Given the description of an element on the screen output the (x, y) to click on. 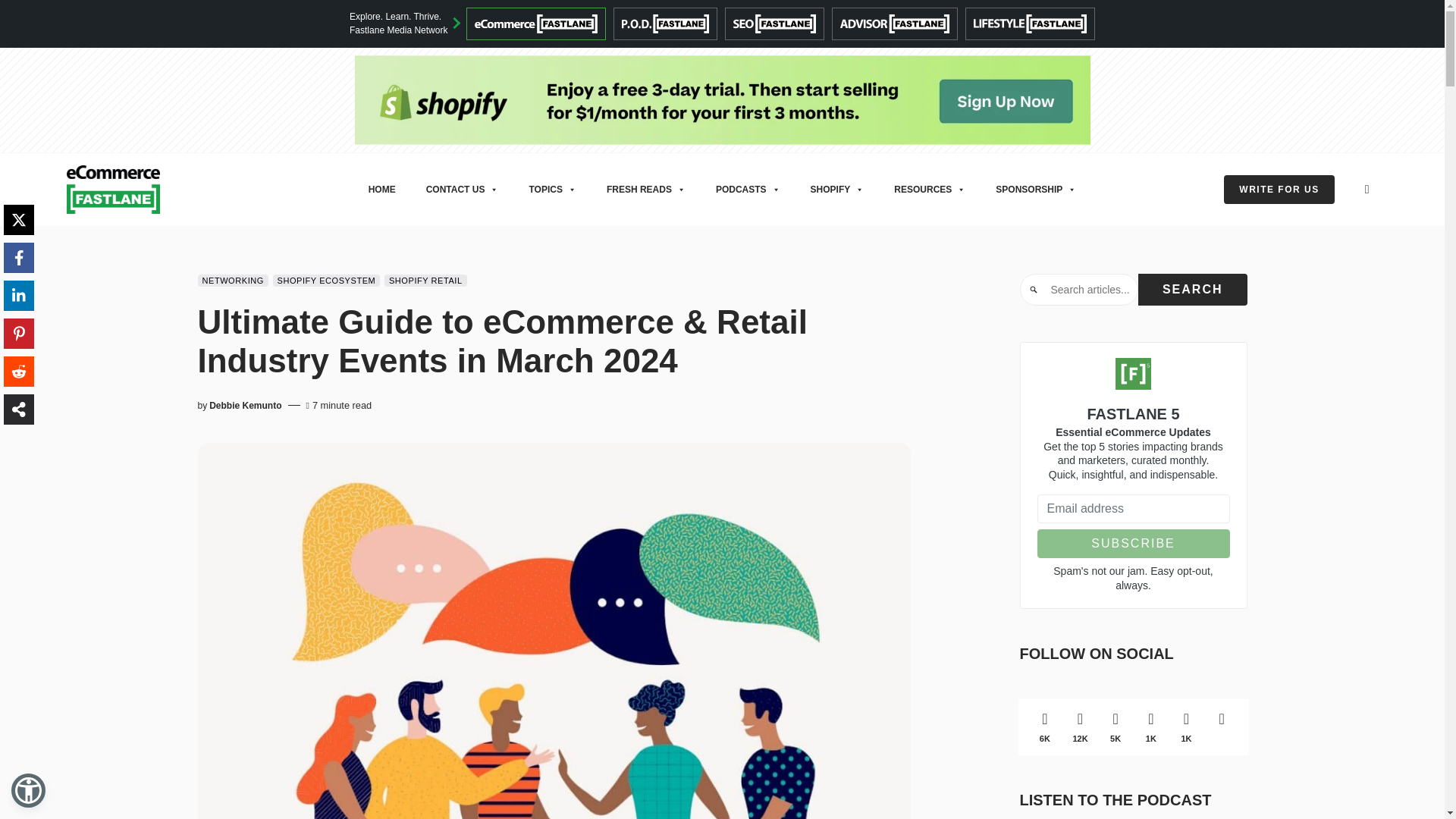
Open Accessibility Menu (28, 790)
View all posts by Debbie Kemunto (245, 405)
Shopify (722, 98)
Subscribe (1133, 543)
